Given the description of an element on the screen output the (x, y) to click on. 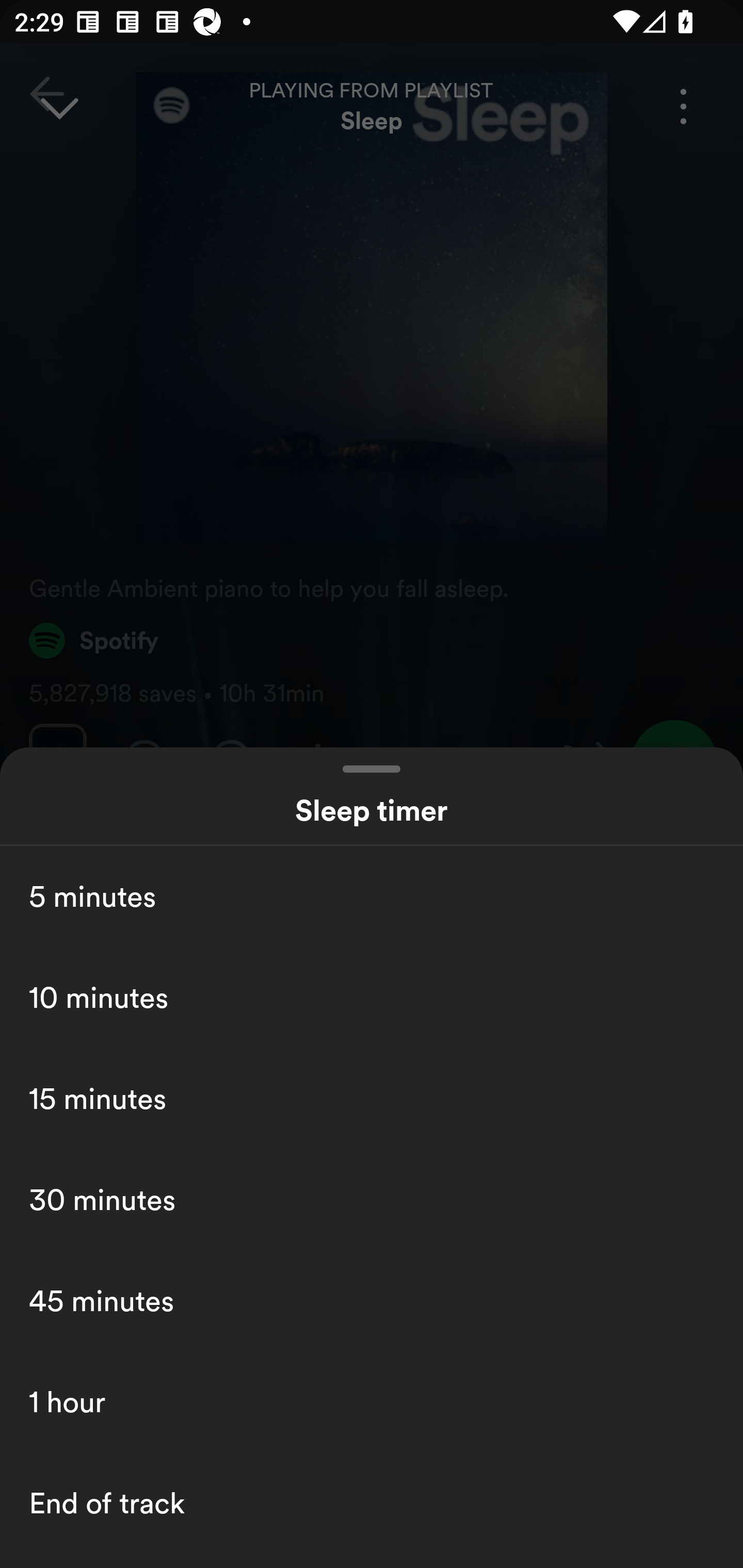
5 minutes (371, 896)
10 minutes (371, 997)
15 minutes (371, 1098)
30 minutes (371, 1199)
45 minutes (371, 1300)
1 hour (371, 1401)
End of track (371, 1502)
